Given the description of an element on the screen output the (x, y) to click on. 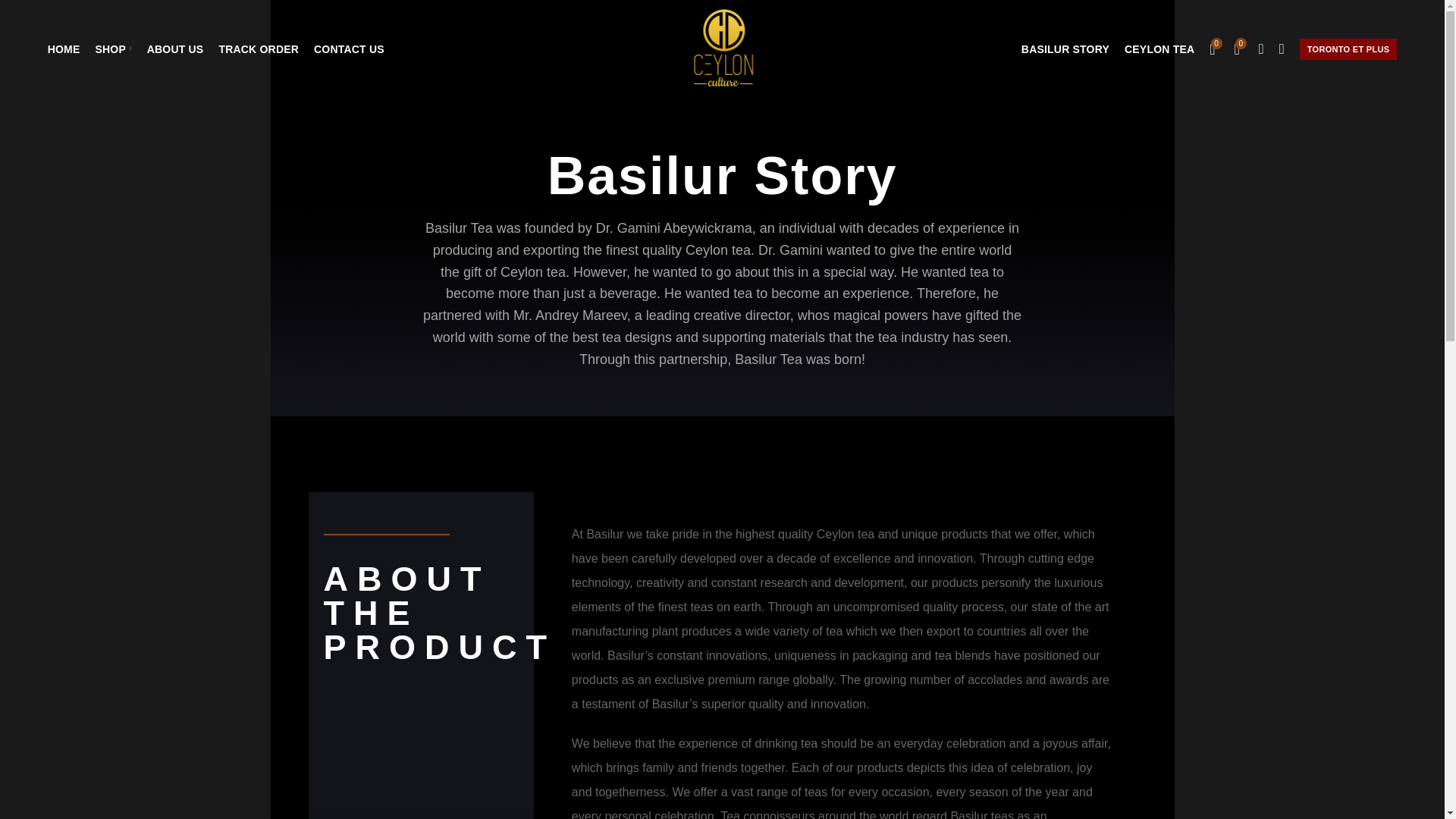
SHOP (112, 48)
Shopping cart (1212, 48)
HOME (63, 48)
CEYLON TEA (1159, 48)
CONTACT US (348, 48)
My Wishlist (1237, 48)
0 (1237, 48)
0 (1212, 48)
ABOUT US (175, 48)
TORONTO ET PLUS (1348, 47)
My account (1281, 48)
BASILUR STORY (1064, 48)
Search (1260, 48)
TRACK ORDER (258, 48)
